Given the description of an element on the screen output the (x, y) to click on. 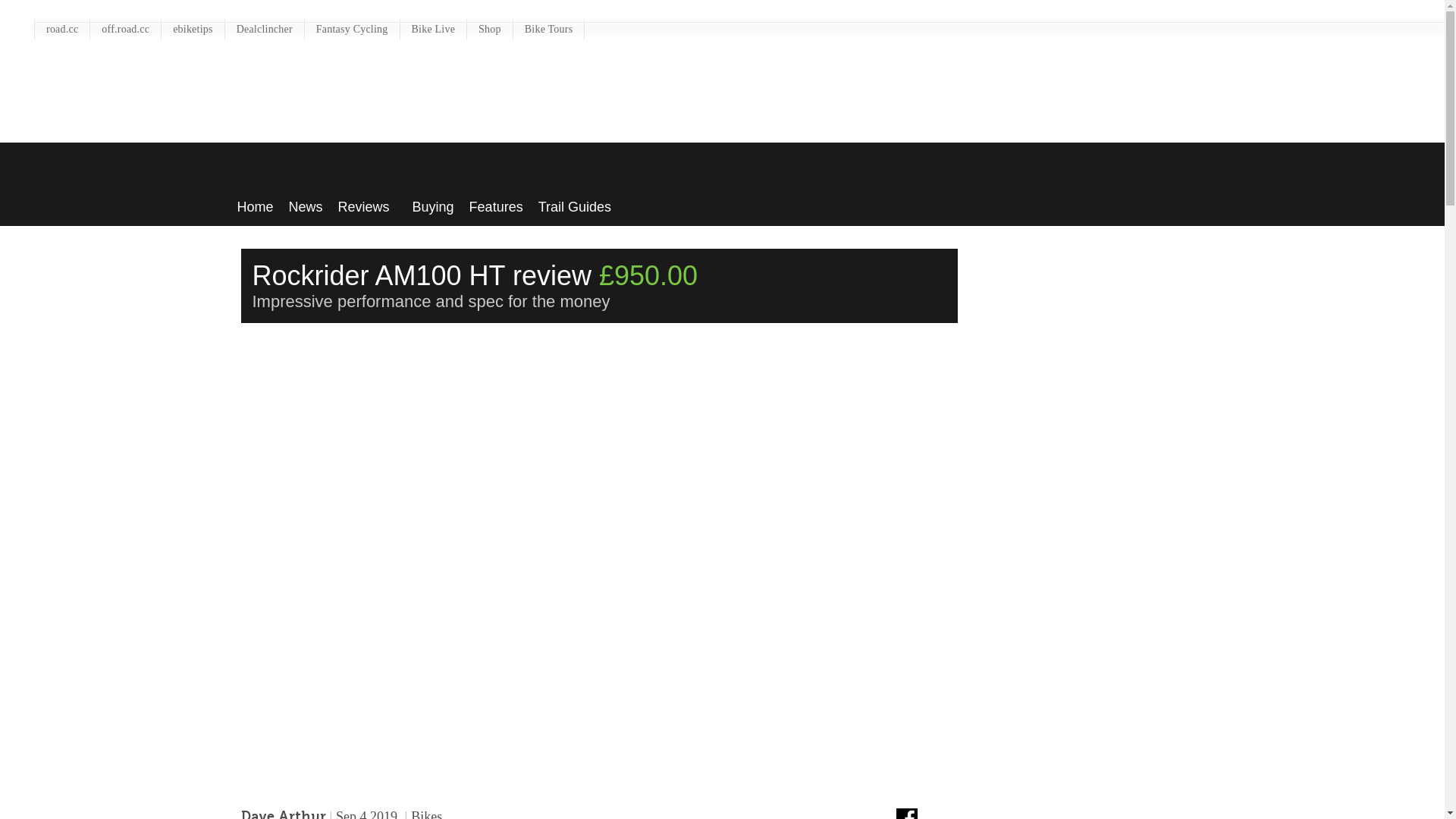
Shop (489, 28)
Dealclincher (264, 28)
Home (254, 202)
Bike Live (433, 28)
Reviews (367, 202)
road.cc (61, 28)
ebiketips (192, 28)
News (305, 202)
off.road.cc (125, 28)
